Given the description of an element on the screen output the (x, y) to click on. 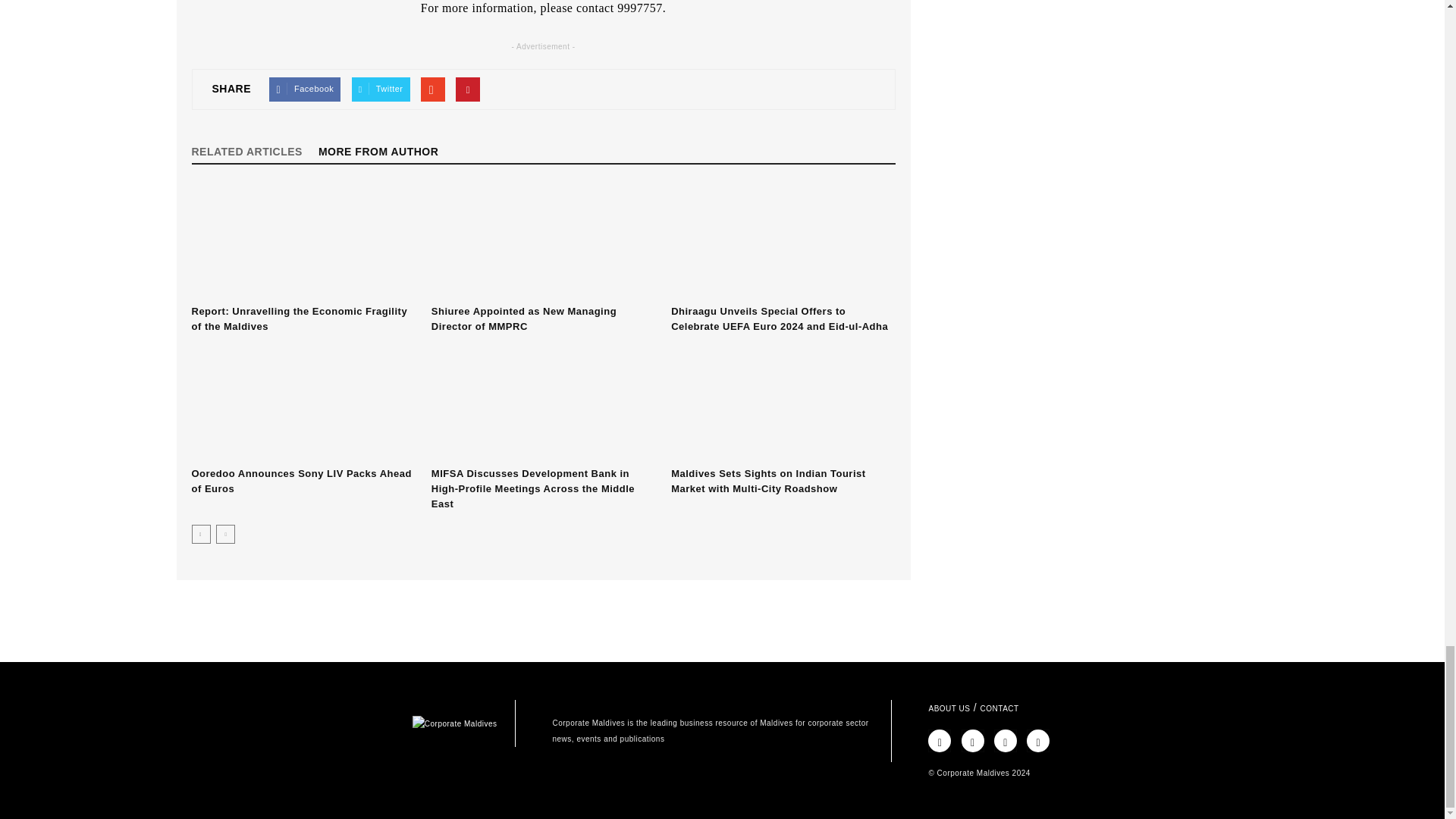
Shiuree Appointed as New Managing Director of MMPRC (542, 241)
Report: Unravelling the Economic Fragility of the Maldives (298, 318)
Report: Unravelling the Economic Fragility of the Maldives (302, 241)
Ooredoo Announces Sony LIV Packs Ahead of Euros (302, 404)
Shiuree Appointed as New Managing Director of MMPRC (522, 318)
Ooredoo Announces Sony LIV Packs Ahead of Euros (300, 480)
